Given the description of an element on the screen output the (x, y) to click on. 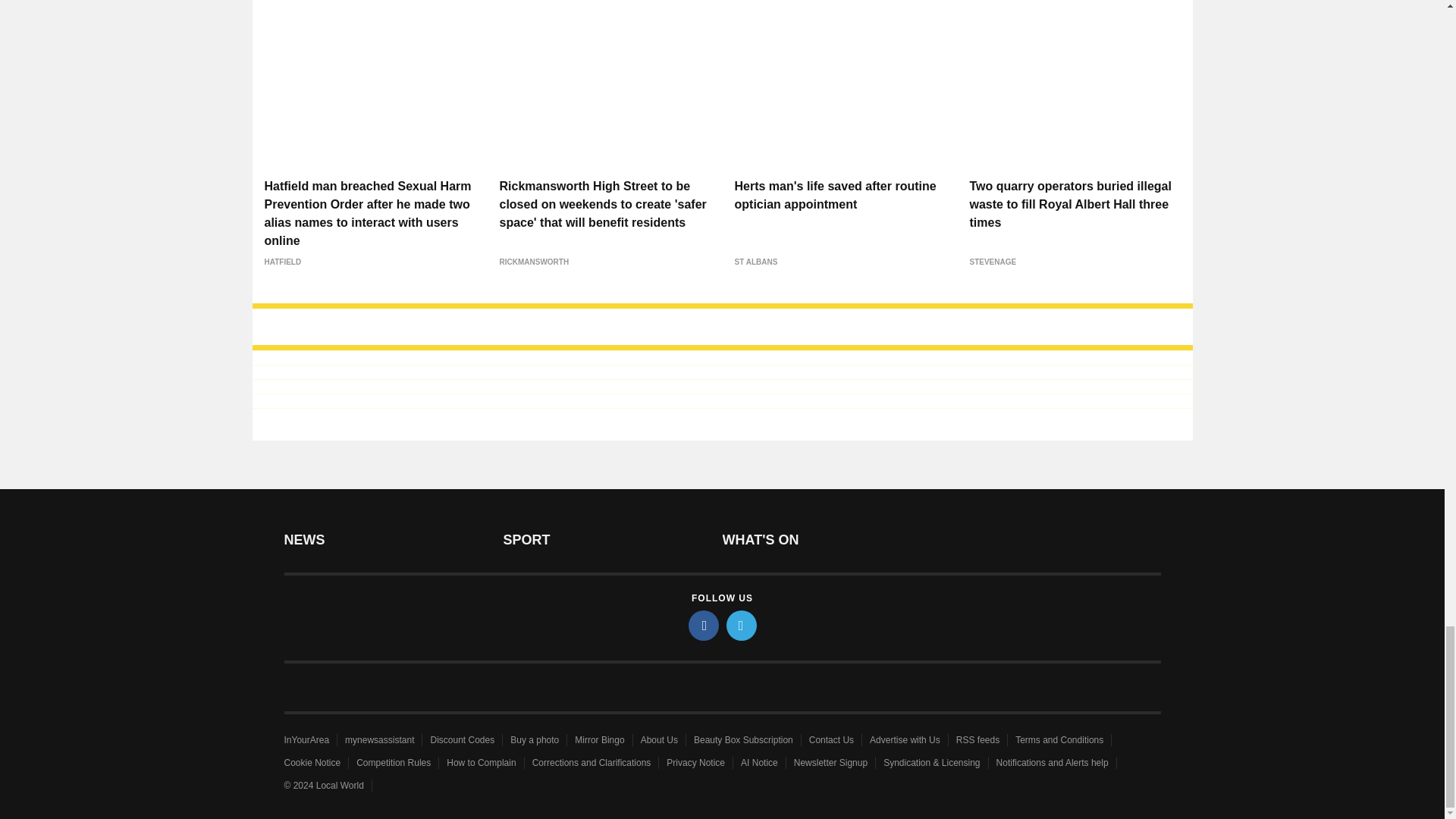
facebook (703, 625)
twitter (741, 625)
